Given the description of an element on the screen output the (x, y) to click on. 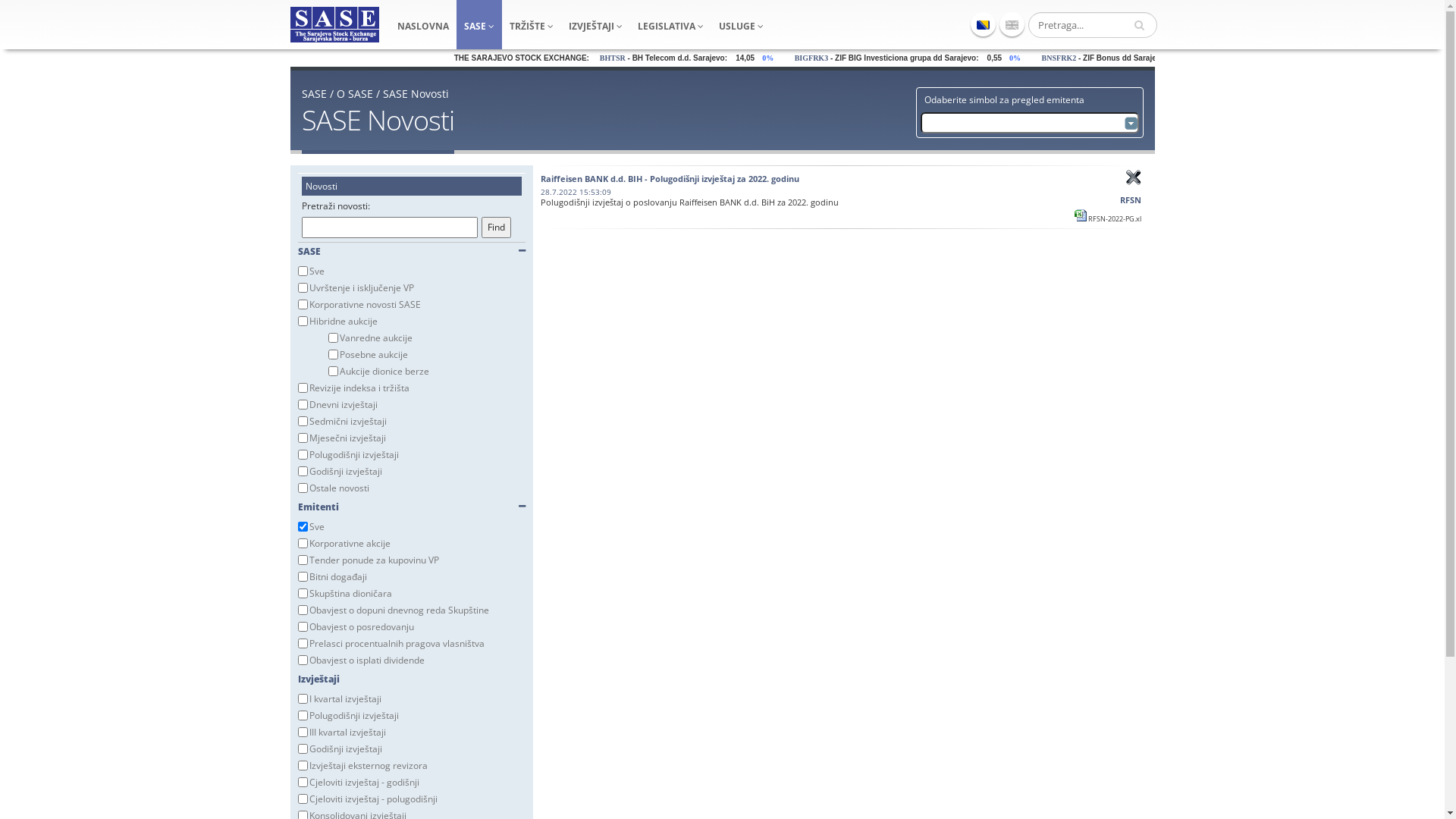
BHTSR Element type: text (677, 57)
English (United States) Element type: hover (1011, 24)
0%    Element type: text (835, 57)
0%    Element type: text (1081, 57)
Bosanski (Bosna I Hercegovina) Element type: hover (982, 24)
BNSFRK2 Element type: text (1120, 57)
BIGFRK3 Element type: text (874, 57)
SASE Novosti Element type: text (415, 93)
RFSN Element type: text (1091, 200)
  Element type: text (1140, 24)
